Given the description of an element on the screen output the (x, y) to click on. 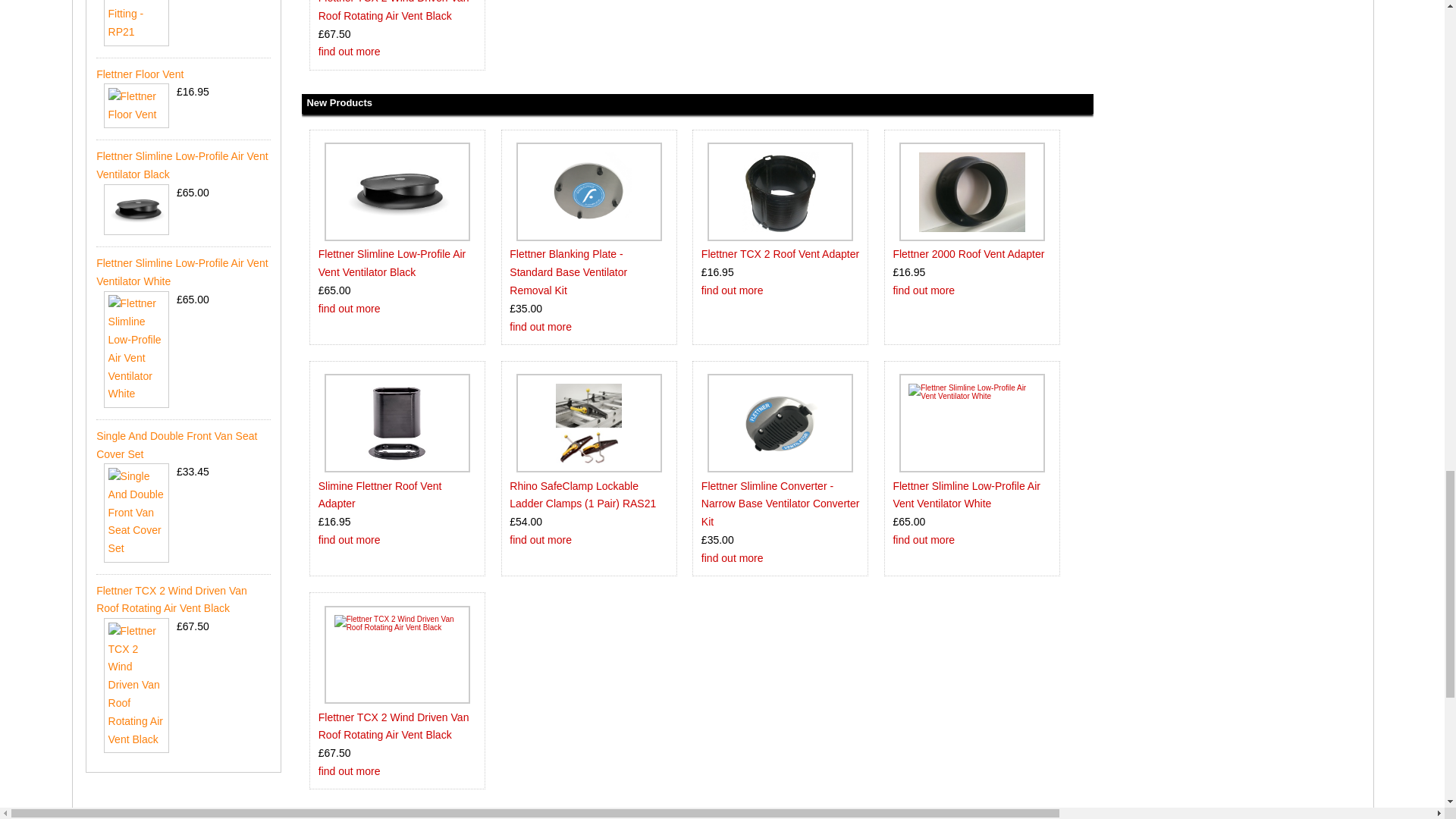
Flettner 2000 Roof Vent Adapter (971, 191)
Flettner Slimline Low-Profile Air Vent Ventilator White (971, 423)
Flettner TCX 2 Roof Vent Adapter (779, 191)
Flettner Slimline Low-Profile Air Vent Ventilator Black (396, 191)
Slimine Flettner Roof Vent Adapter (396, 423)
